Given the description of an element on the screen output the (x, y) to click on. 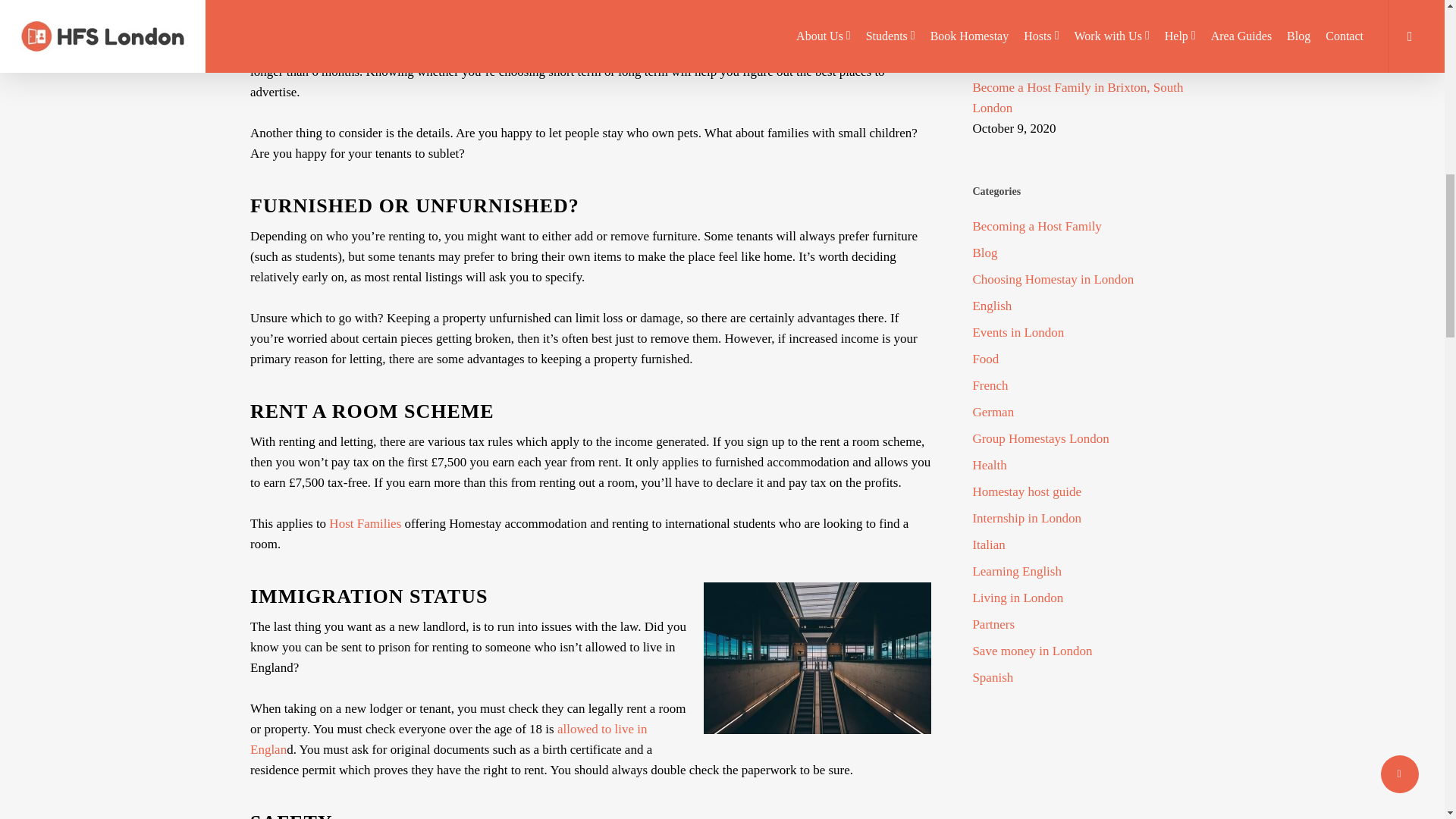
Host Families (365, 523)
